Given the description of an element on the screen output the (x, y) to click on. 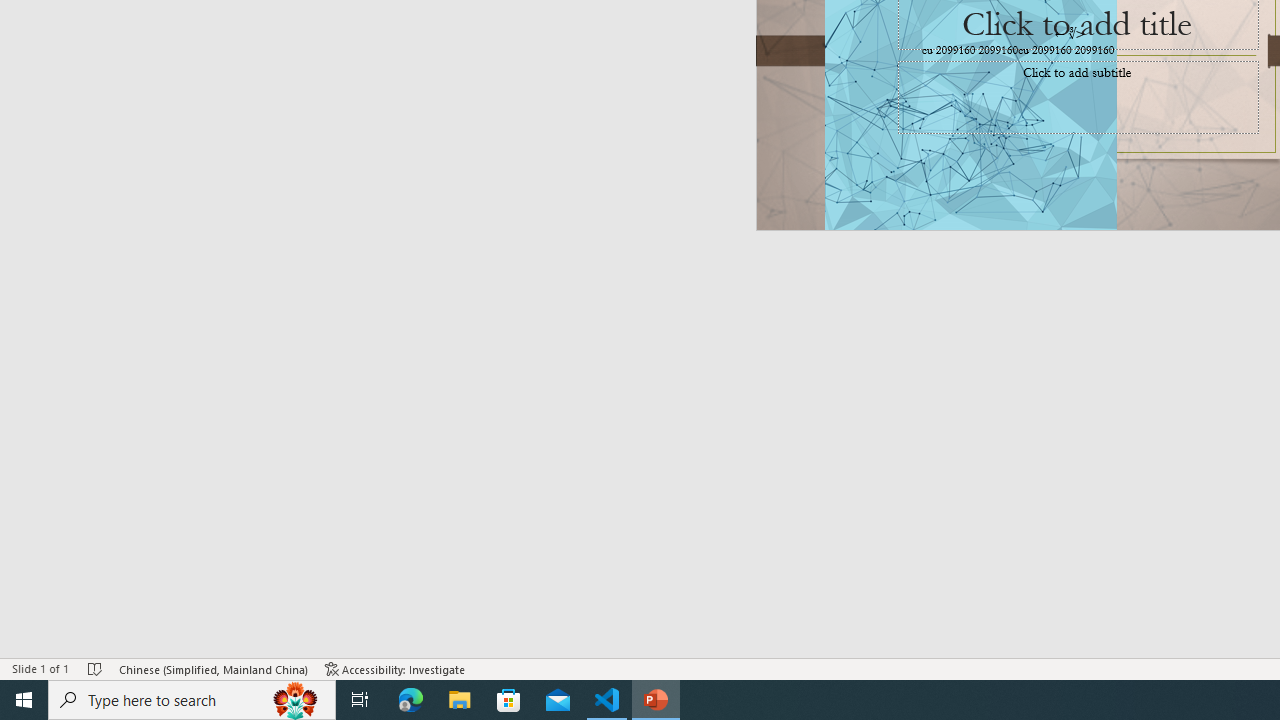
TextBox 61 (1074, 51)
Subtitle TextBox (1078, 97)
TextBox 7 (1069, 33)
